Given the description of an element on the screen output the (x, y) to click on. 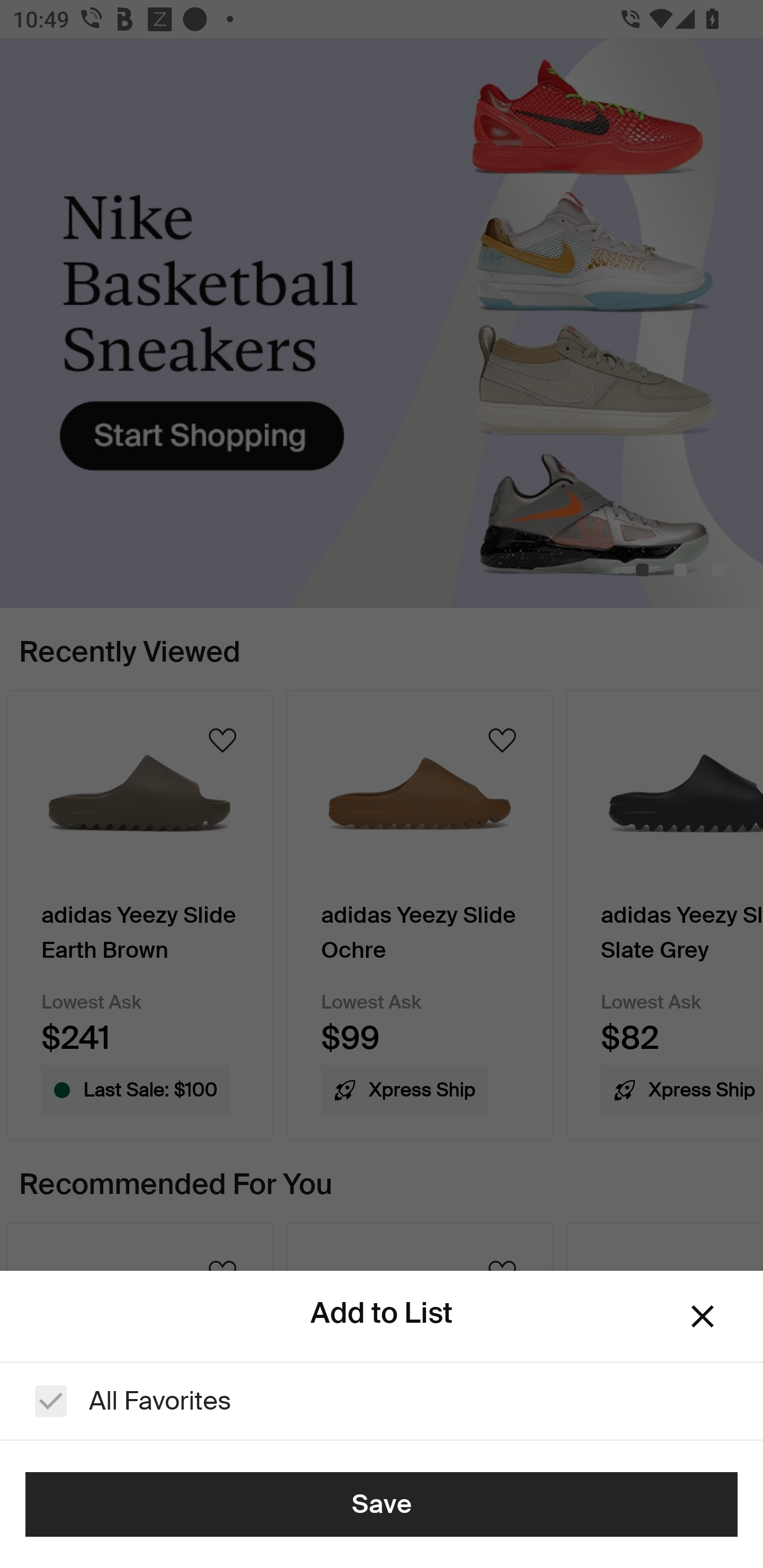
Dismiss (702, 1315)
All Favorites (381, 1400)
Save (381, 1504)
